Given the description of an element on the screen output the (x, y) to click on. 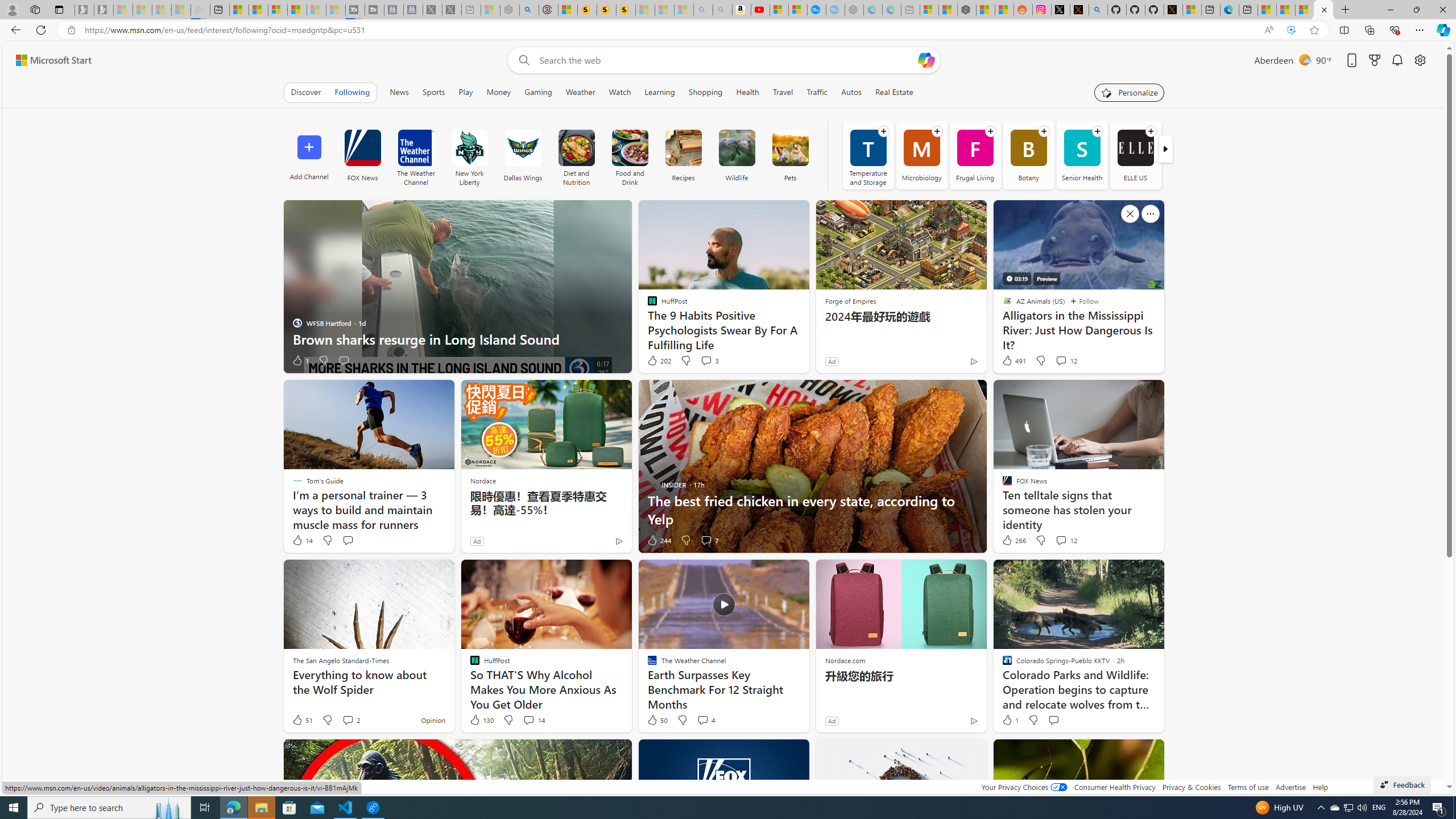
130 Like (480, 719)
Diet and Nutrition (576, 155)
Diet and Nutrition (576, 147)
Nordace - Summer Adventures 2024 - Sleeping (509, 9)
ELLE US (1135, 155)
266 Like (1012, 539)
Amazon Echo Dot PNG - Search Images - Sleeping (721, 9)
